Given the description of an element on the screen output the (x, y) to click on. 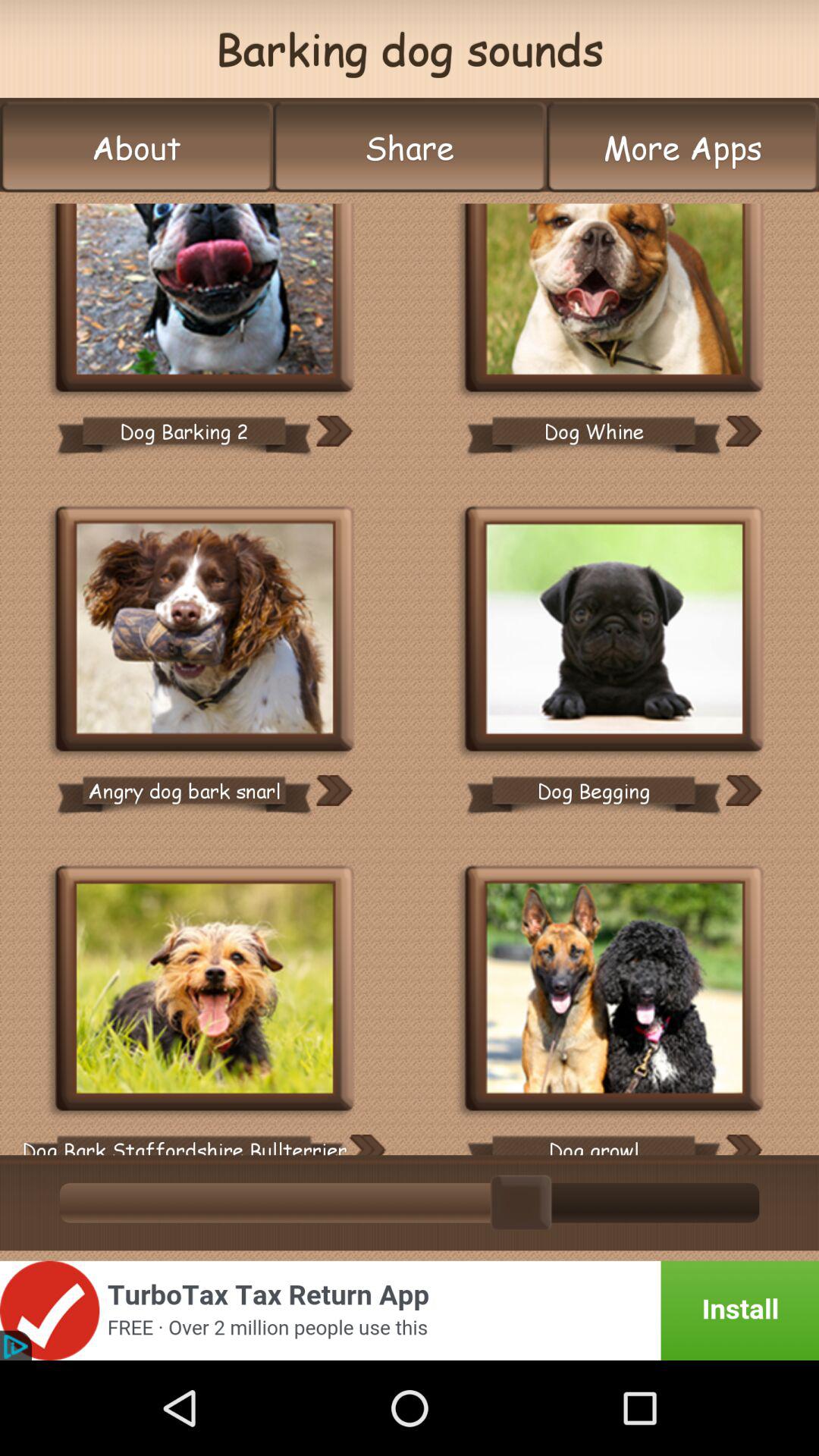
swipe to share button (409, 147)
